Given the description of an element on the screen output the (x, y) to click on. 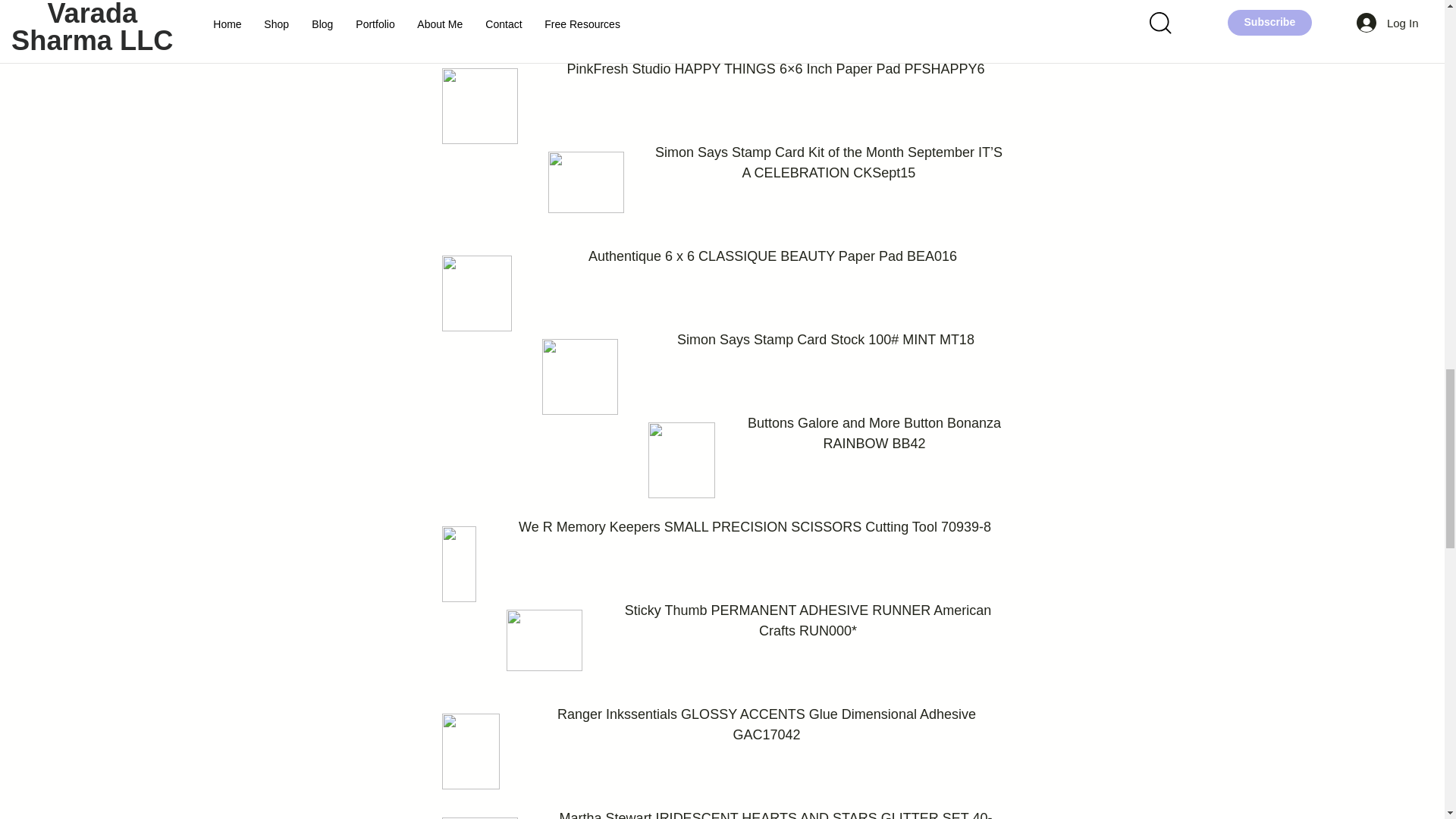
Buttons Galore and More Button Bonanza RAINBOW BB42 (875, 433)
Authentique 6 x 6 CLASSIQUE BEAUTY Paper Pad BEA016 (772, 255)
